Given the description of an element on the screen output the (x, y) to click on. 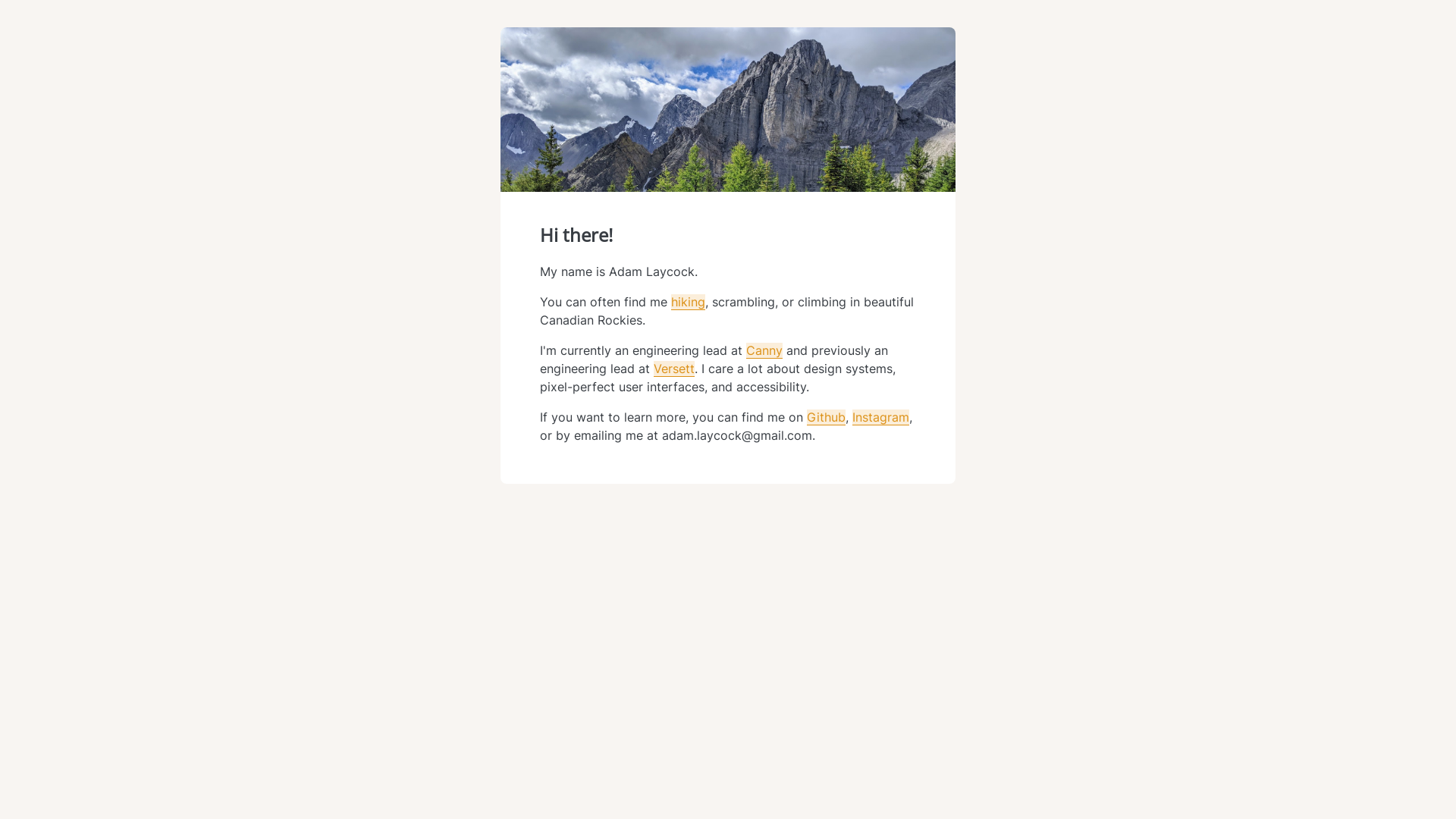
Github Element type: text (825, 417)
Versett Element type: text (673, 368)
Canny Element type: text (764, 350)
hiking Element type: text (688, 302)
Instagram Element type: text (880, 417)
